Given the description of an element on the screen output the (x, y) to click on. 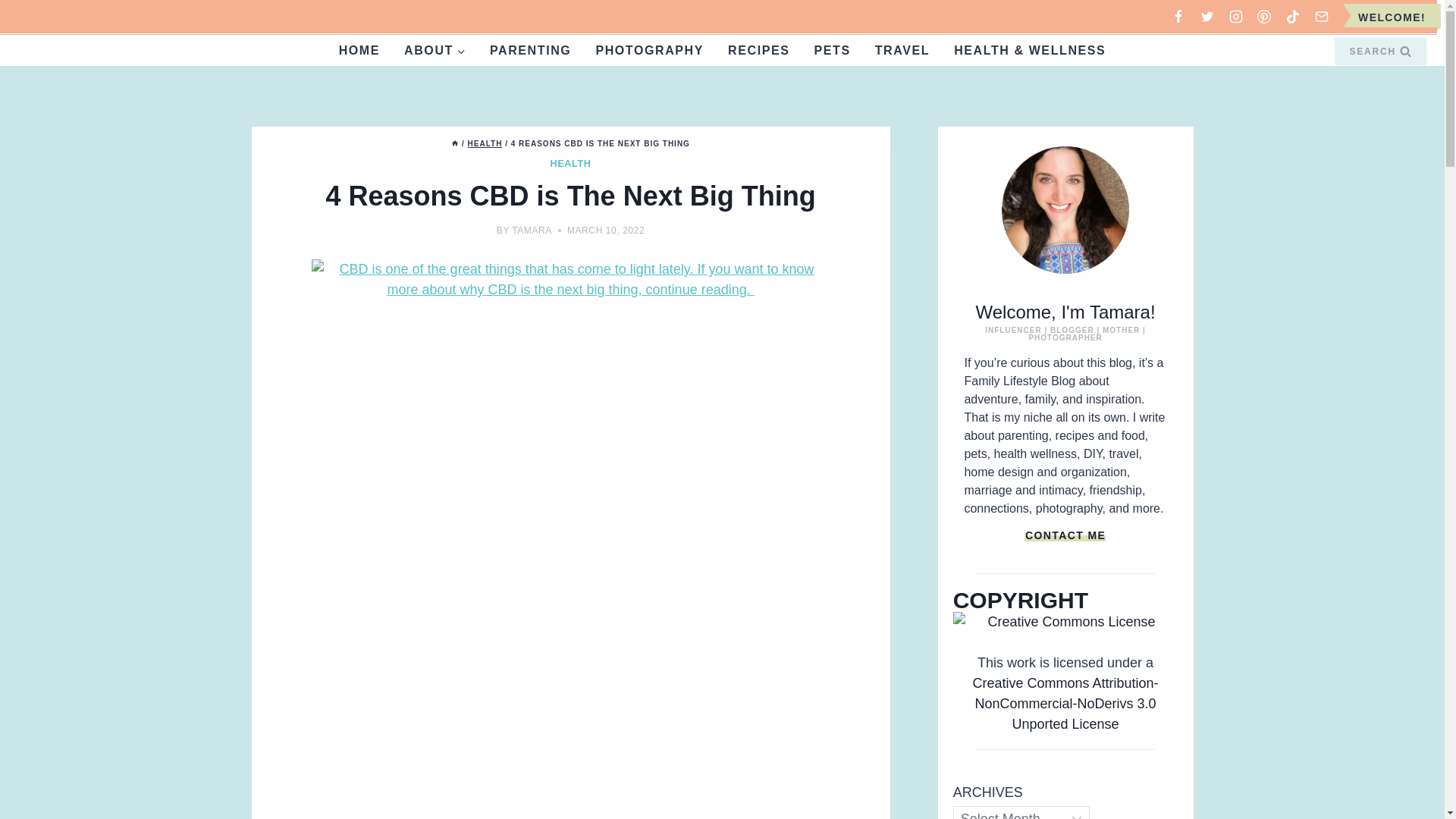
TAMARA (531, 230)
HEALTH (570, 163)
HEALTH (484, 143)
PETS (832, 49)
HOME (358, 49)
ABOUT (434, 49)
Home (454, 143)
PARENTING (530, 49)
TRAVEL (902, 49)
RECIPES (759, 49)
PHOTOGRAPHY (649, 49)
WELCOME! (1391, 17)
SEARCH (1380, 50)
